Given the description of an element on the screen output the (x, y) to click on. 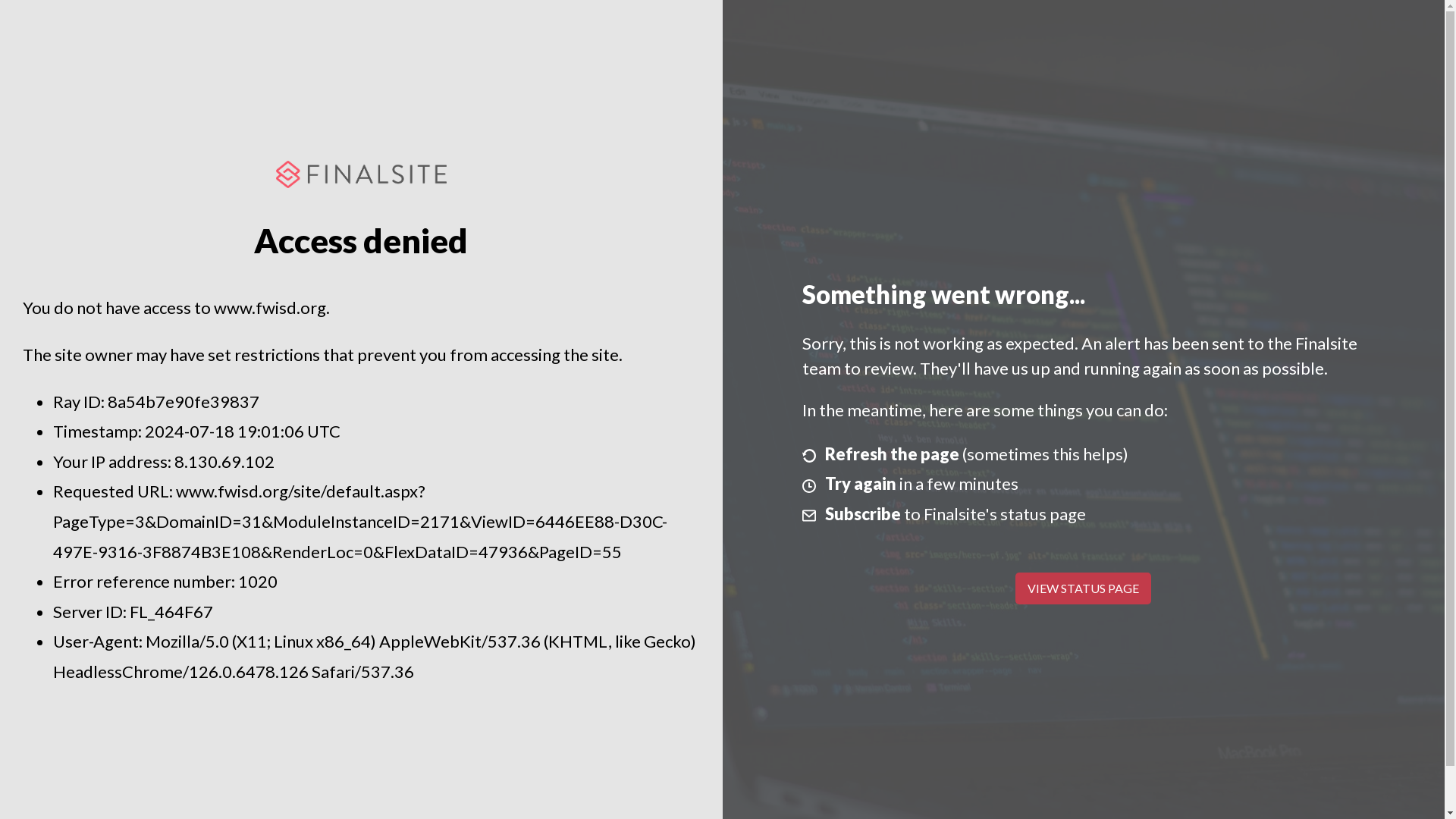
VIEW STATUS PAGE (1082, 588)
